Given the description of an element on the screen output the (x, y) to click on. 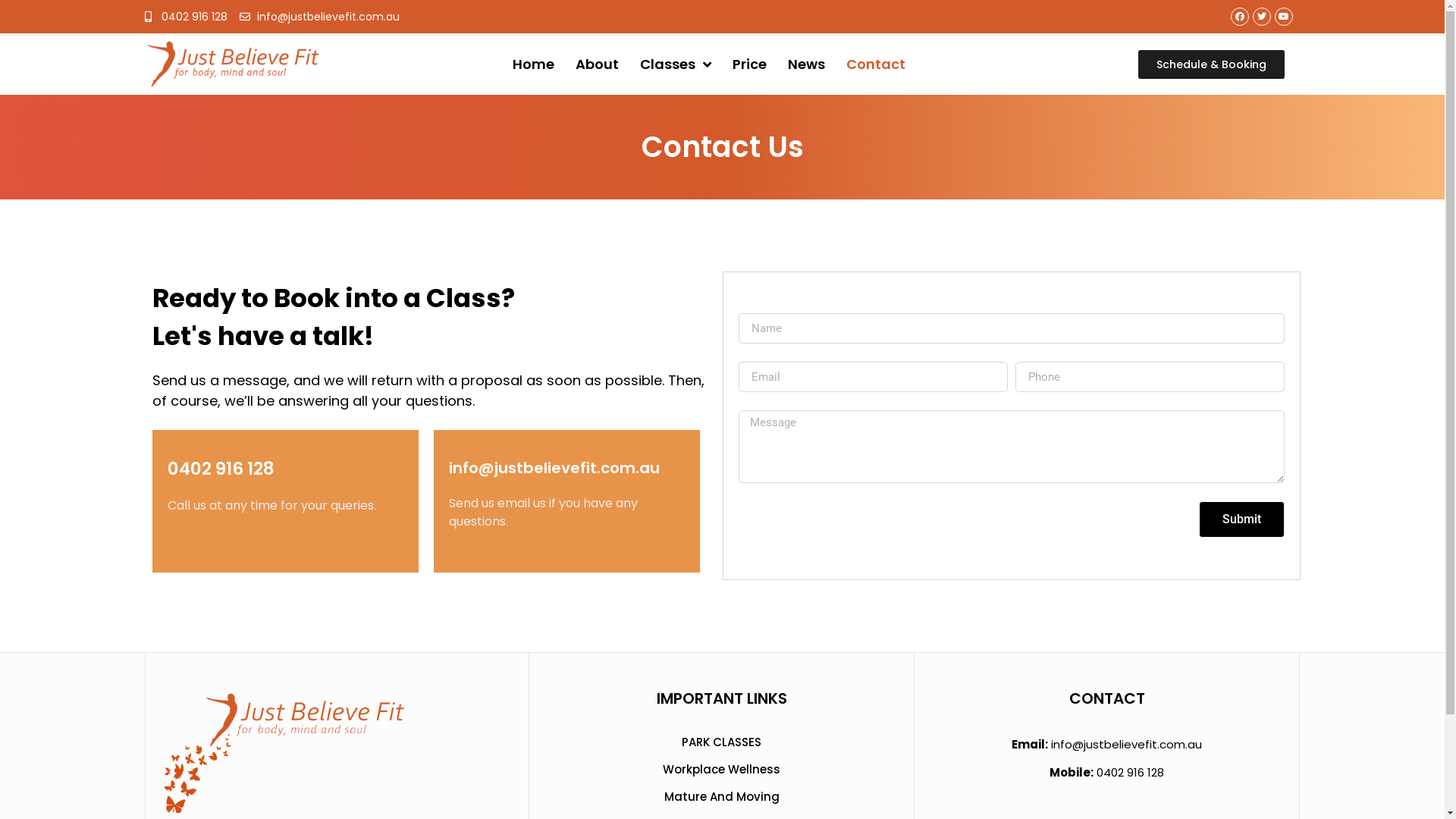
Workplace Wellness Element type: text (721, 769)
Schedule & Booking Element type: text (1211, 64)
Classes Element type: text (675, 64)
PARK CLASSES Element type: text (721, 742)
0402 916 128 Element type: text (1130, 772)
Price Element type: text (749, 64)
info@justbelievefit.com.au Element type: text (319, 17)
info@justbelievefit.com.au Element type: text (1126, 744)
0402 916 128 Element type: text (219, 468)
Mature And Moving Element type: text (721, 796)
Home Element type: text (533, 64)
About Element type: text (596, 64)
Contact Element type: text (875, 64)
info@justbelievefit.com.au Element type: text (553, 467)
Submit Element type: text (1240, 519)
0402 916 128 Element type: text (185, 17)
News Element type: text (806, 64)
